Given the description of an element on the screen output the (x, y) to click on. 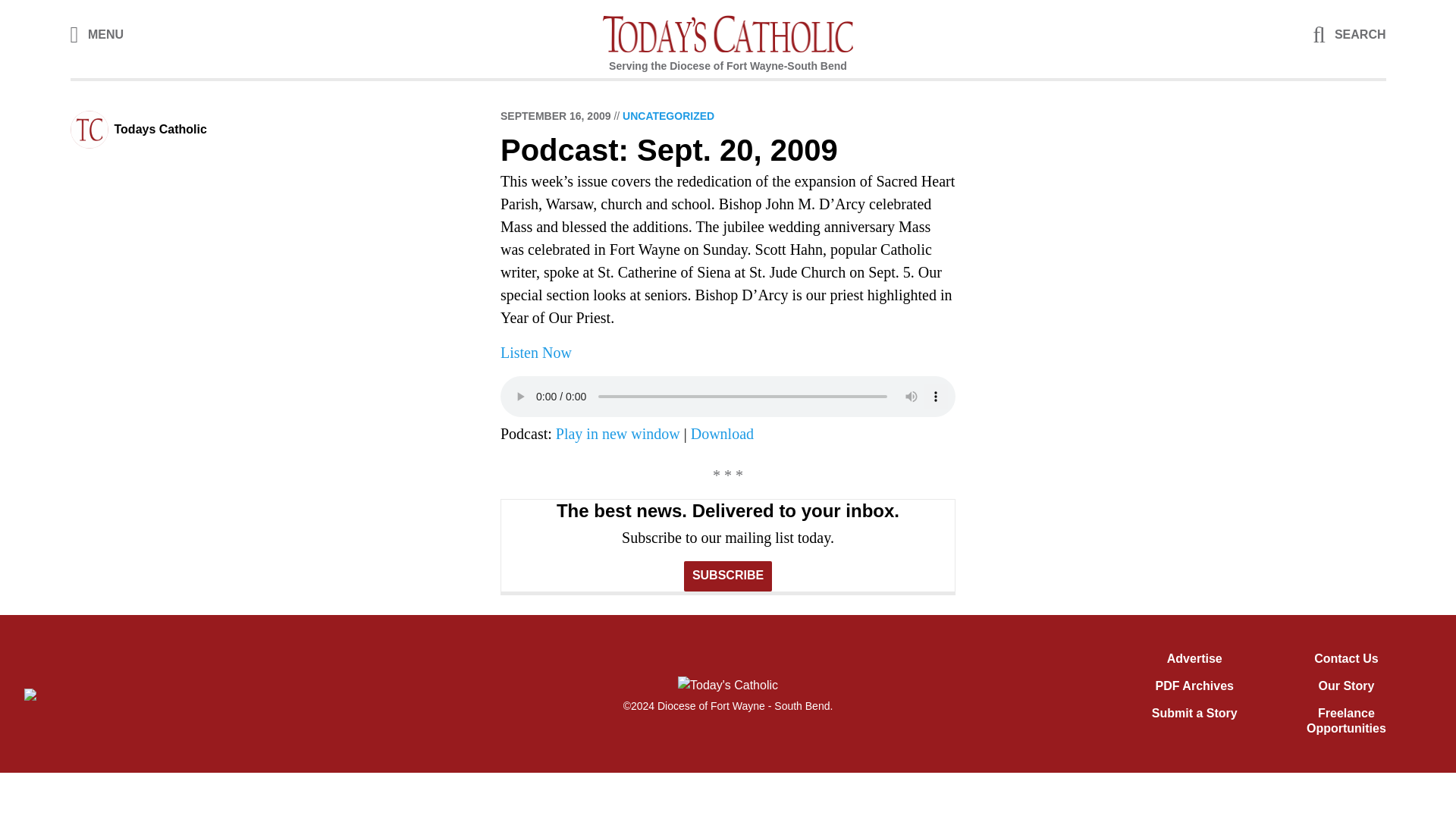
Freelance Opportunities (1346, 720)
PDF Archives (1194, 685)
Advertise (1195, 658)
Play in new window (617, 433)
Our Story (1346, 685)
Download (722, 433)
Download (722, 433)
Contact Us (1345, 658)
Todays Catholic (159, 128)
UNCATEGORIZED (668, 115)
